Given the description of an element on the screen output the (x, y) to click on. 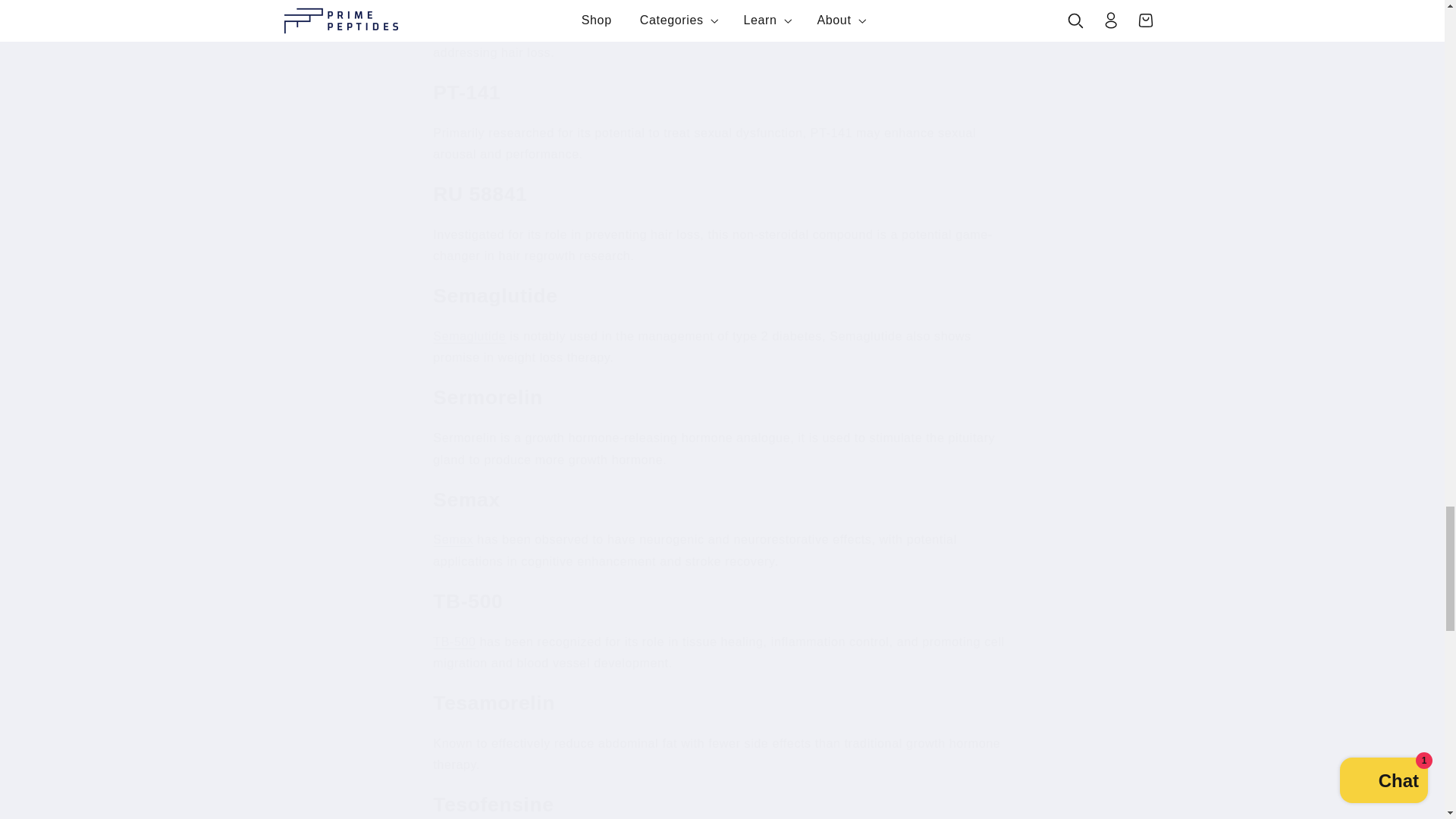
Buy TB-500 (454, 641)
Buy Semax (452, 539)
Buy Semaglutide (468, 336)
